Given the description of an element on the screen output the (x, y) to click on. 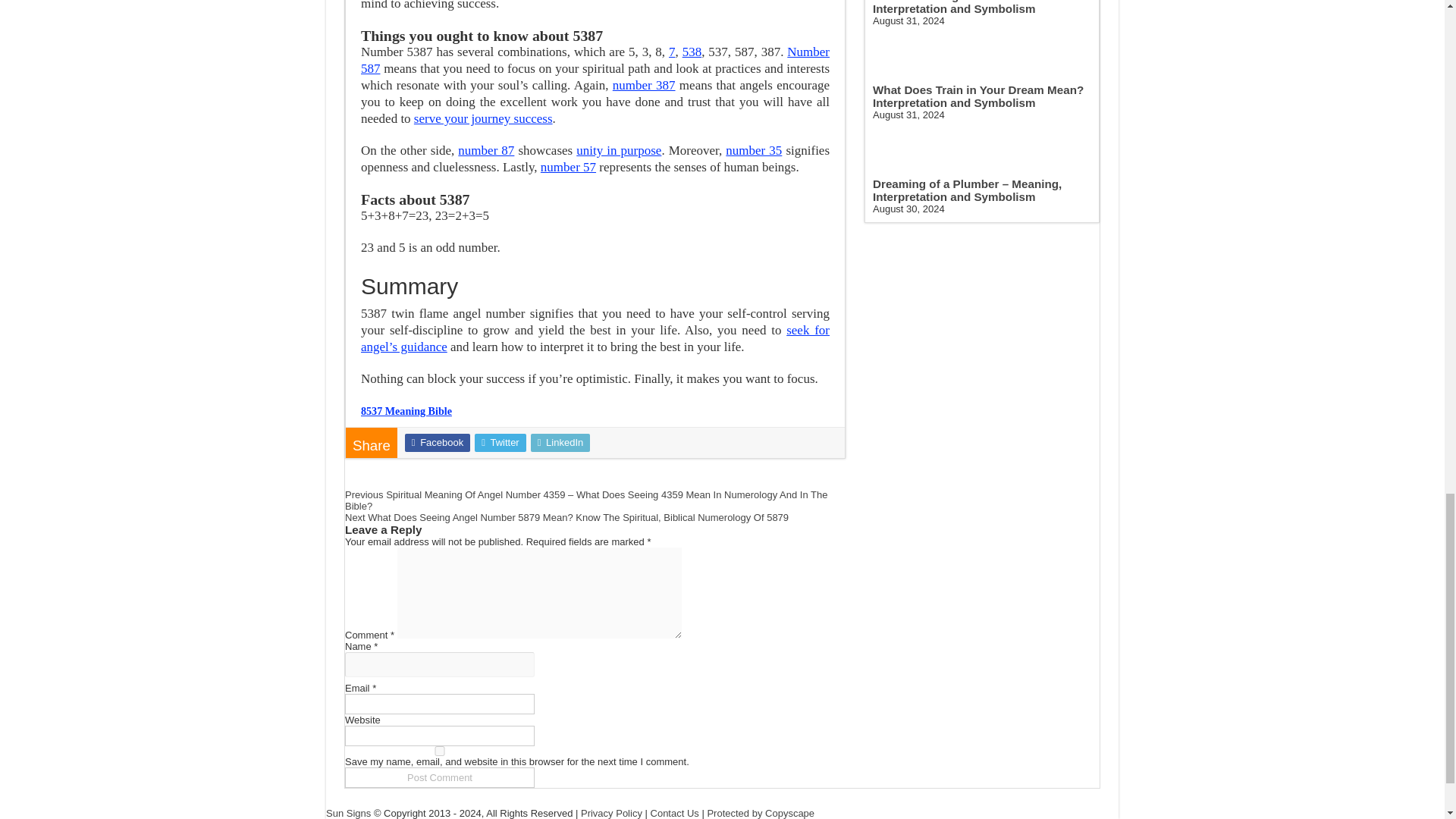
number 35 (753, 150)
serve your journey success (483, 118)
Post Comment (439, 777)
LinkedIn (561, 443)
unity in purpose (618, 150)
8537 Meaning Bible (406, 410)
Facebook (437, 443)
8537 Meaning Bible (406, 410)
number 87 (485, 150)
number 387 (643, 84)
